Given the description of an element on the screen output the (x, y) to click on. 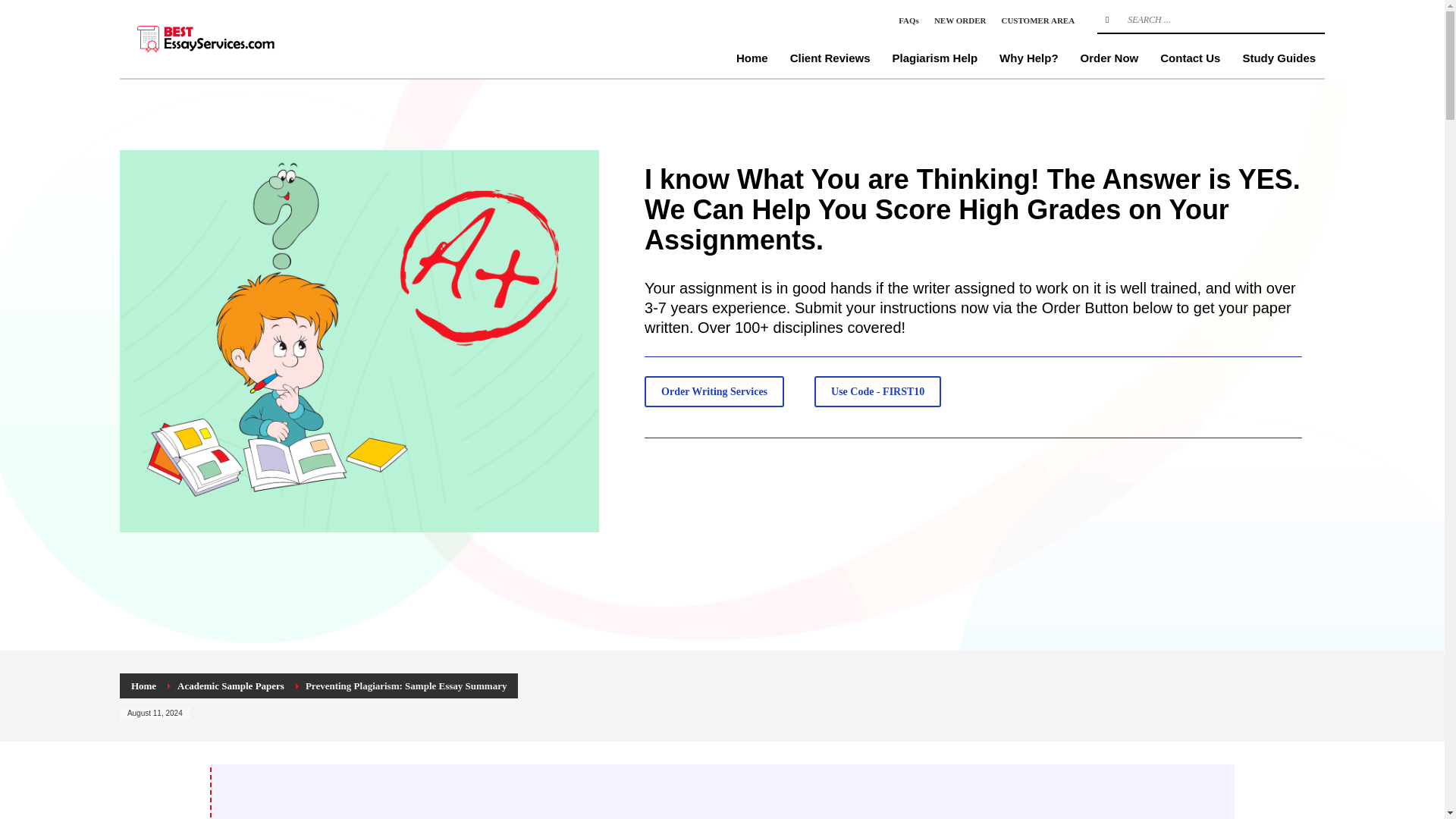
Client Reviews (829, 57)
go (1107, 19)
CUSTOMER AREA (1037, 20)
Academic Sample Papers (230, 685)
NEW ORDER (960, 20)
Order Now (1109, 57)
Plagiarism Help (935, 57)
Contact Us (1189, 57)
FAQs (908, 20)
Homework Help (233, 37)
